Given the description of an element on the screen output the (x, y) to click on. 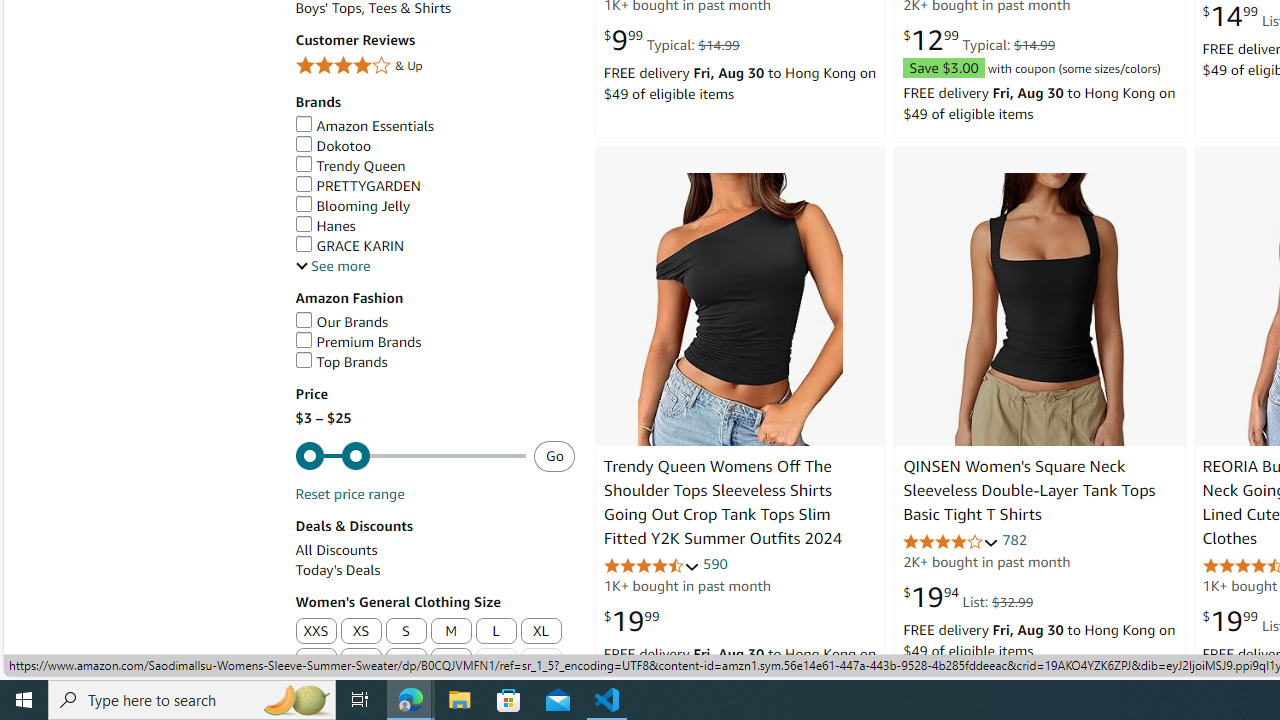
590 (715, 563)
Premium Brands (434, 342)
Skip to main search results (88, 666)
Hanes (324, 226)
5XL (451, 661)
Trendy Queen (349, 165)
XS (362, 632)
5XL (451, 662)
Today's Deals (337, 570)
Our Brands (341, 321)
Dokotoo (333, 146)
Boys' Tops, Tees & Shirts (434, 8)
